Given the description of an element on the screen output the (x, y) to click on. 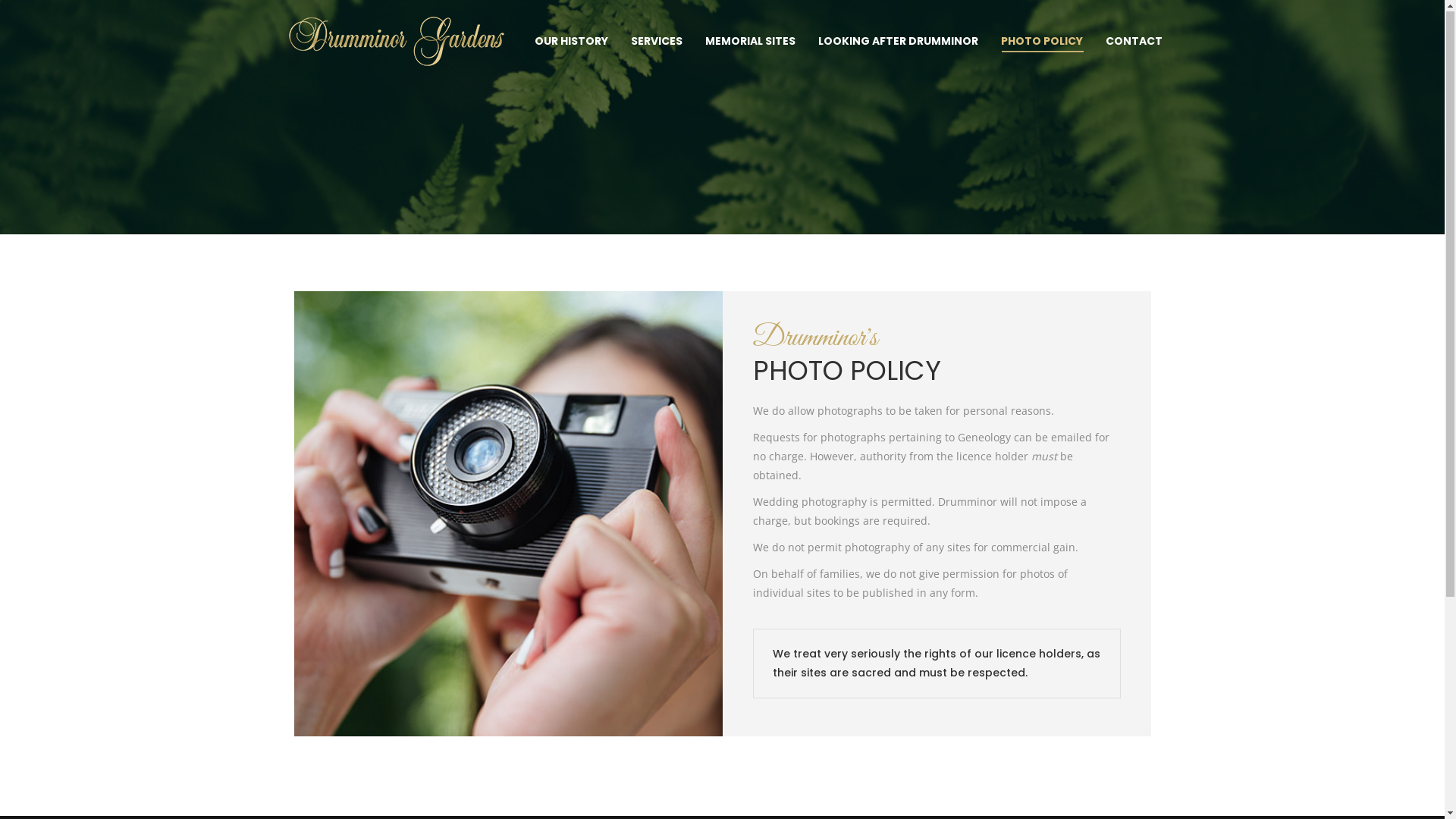
OUR HISTORY Element type: text (570, 41)
CONTACT Element type: text (1133, 41)
Photo Policy Element type: text (318, 713)
LOOKING AFTER DRUMMINOR Element type: text (897, 41)
PHOTO POLICY Element type: text (1041, 41)
submit Element type: text (1035, 721)
Looking After Drumminor Element type: text (352, 679)
MEMORIAL SITES Element type: text (750, 41)
Black Arrow Productions Element type: text (1106, 796)
Our History Element type: text (316, 576)
Submit Element type: text (948, 721)
SERVICES Element type: text (656, 41)
Memorial Sites Element type: text (325, 645)
Services Element type: text (308, 611)
